Given the description of an element on the screen output the (x, y) to click on. 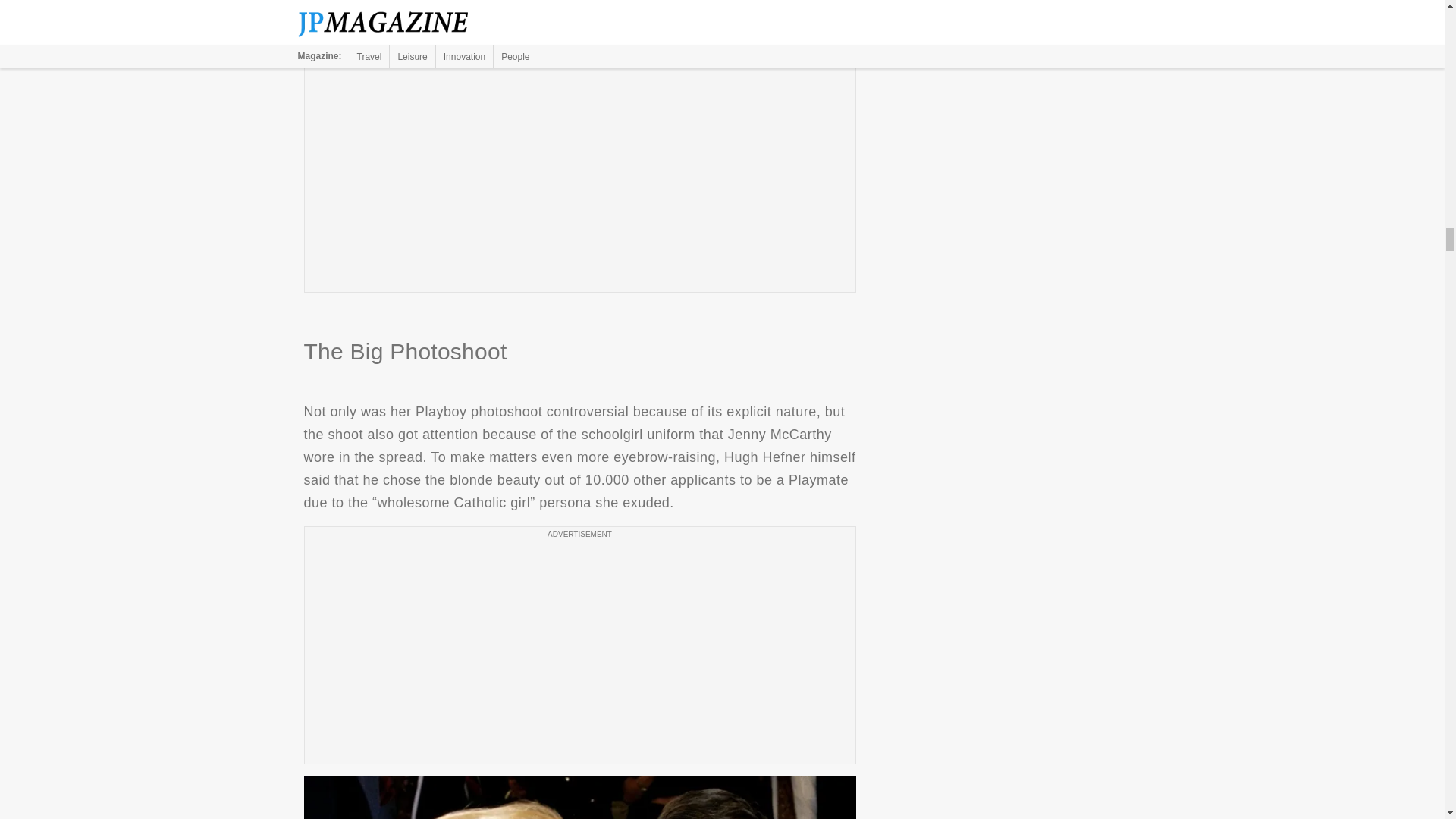
The Big Photoshoot (579, 797)
